Given the description of an element on the screen output the (x, y) to click on. 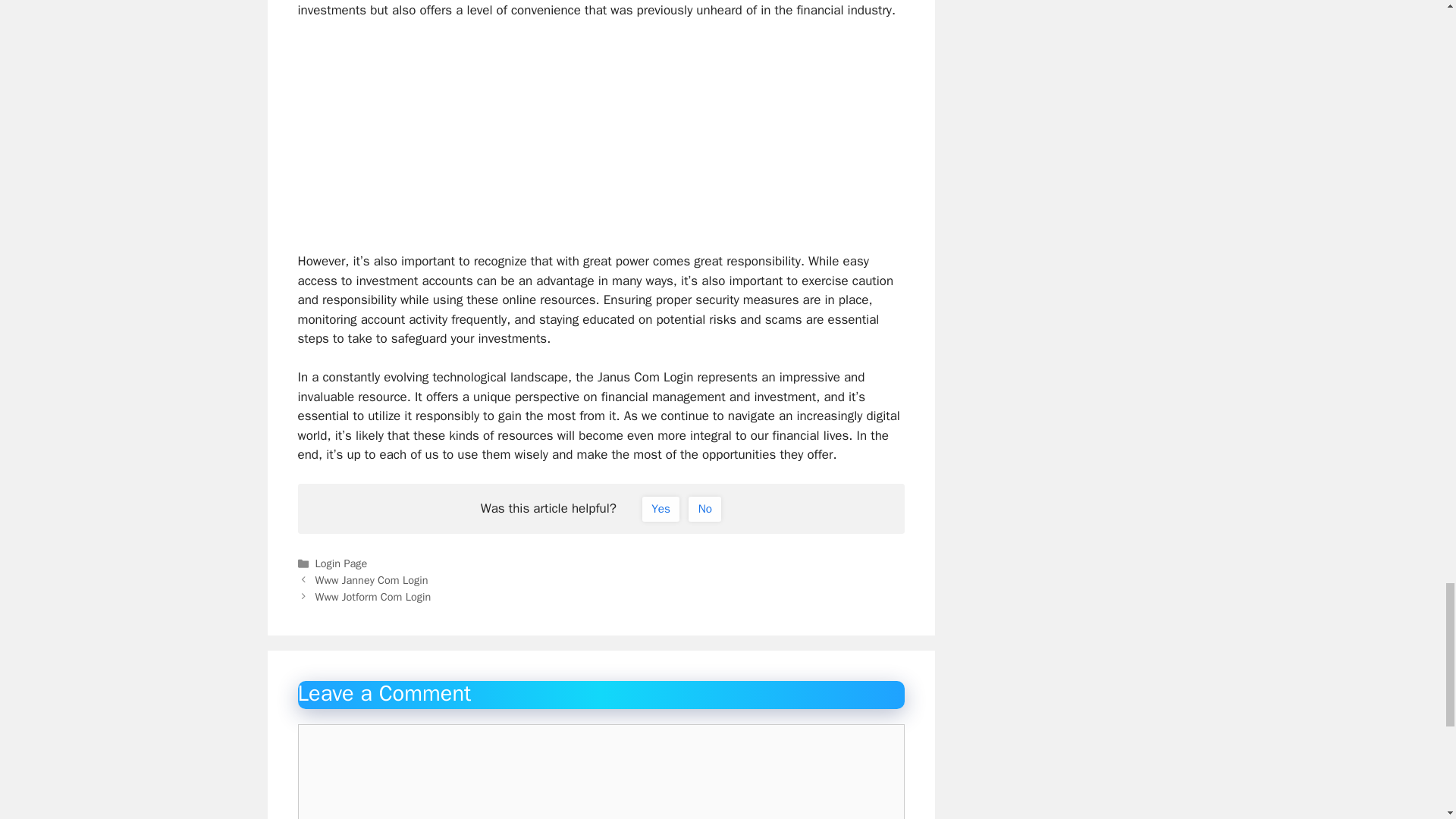
Www Jotform Com Login (372, 596)
Www Janney Com Login (371, 580)
Login Page (341, 563)
